Given the description of an element on the screen output the (x, y) to click on. 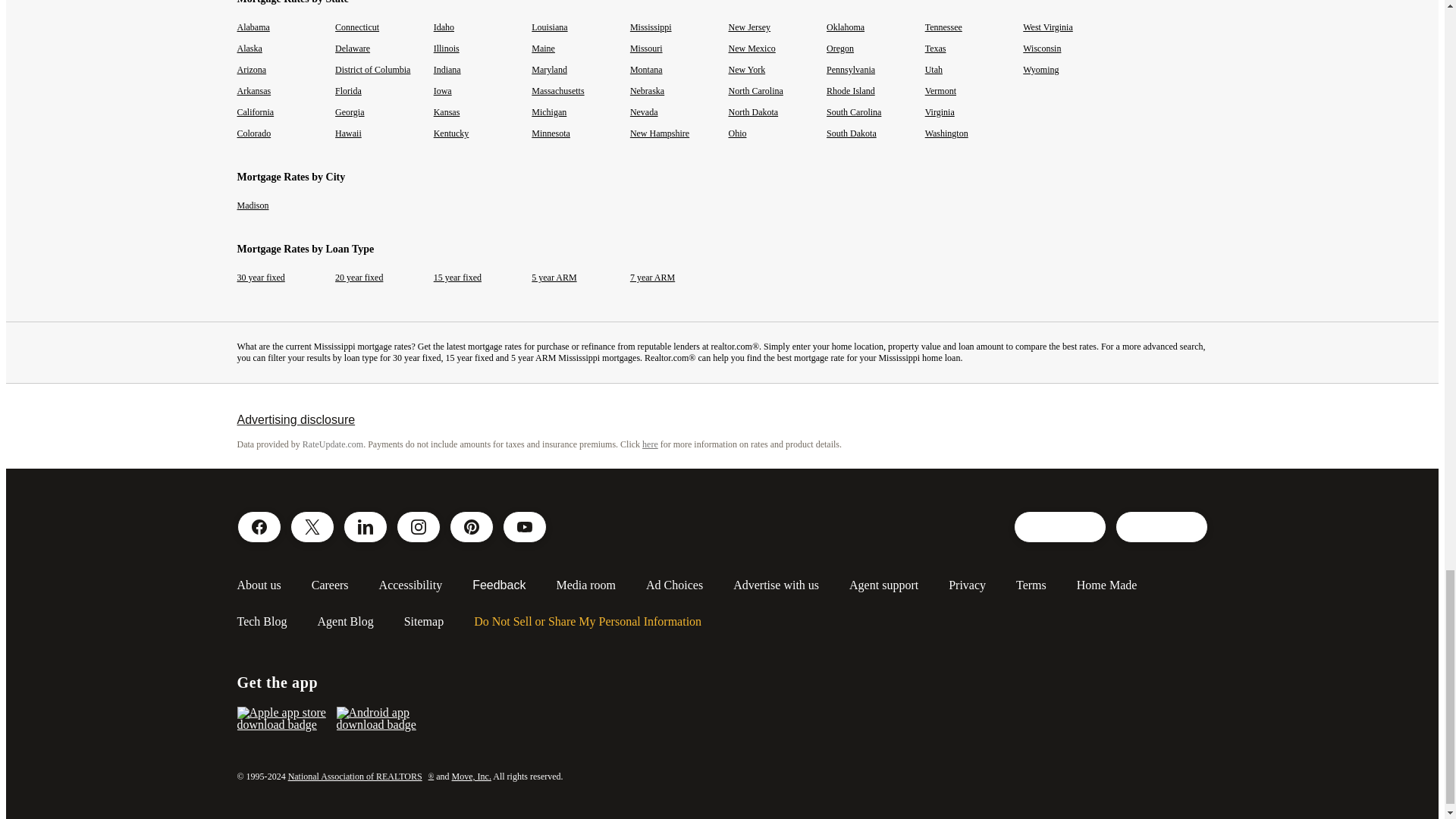
Alaska (248, 48)
Georgia (349, 112)
Arkansas (252, 90)
Illinois (446, 48)
California (254, 112)
Florida (347, 90)
Indiana (447, 69)
Delaware (351, 48)
Hawaii (347, 132)
Arizona (250, 69)
